Given the description of an element on the screen output the (x, y) to click on. 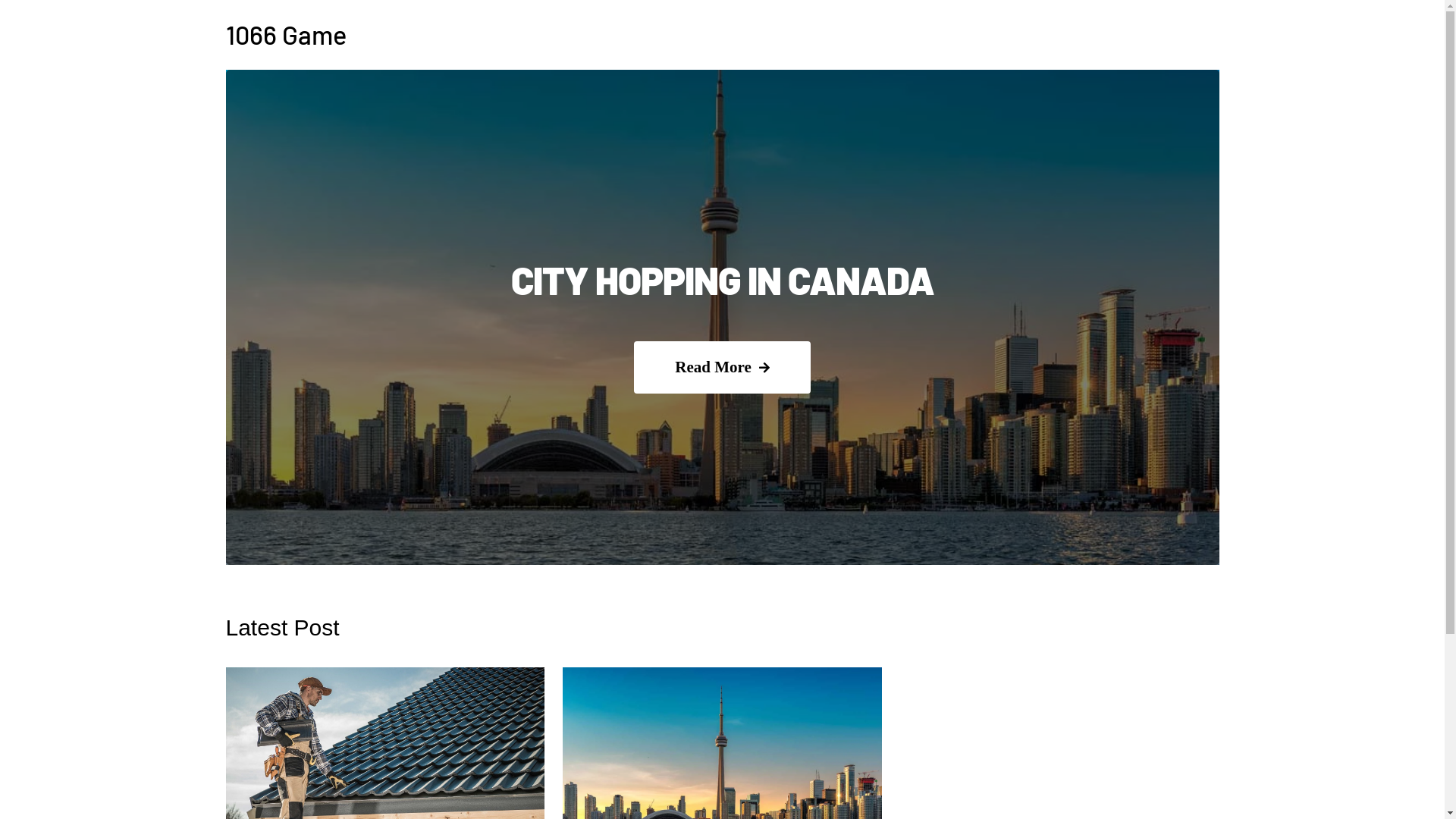
1066 Game Element type: text (285, 34)
Read More Element type: text (721, 367)
